Given the description of an element on the screen output the (x, y) to click on. 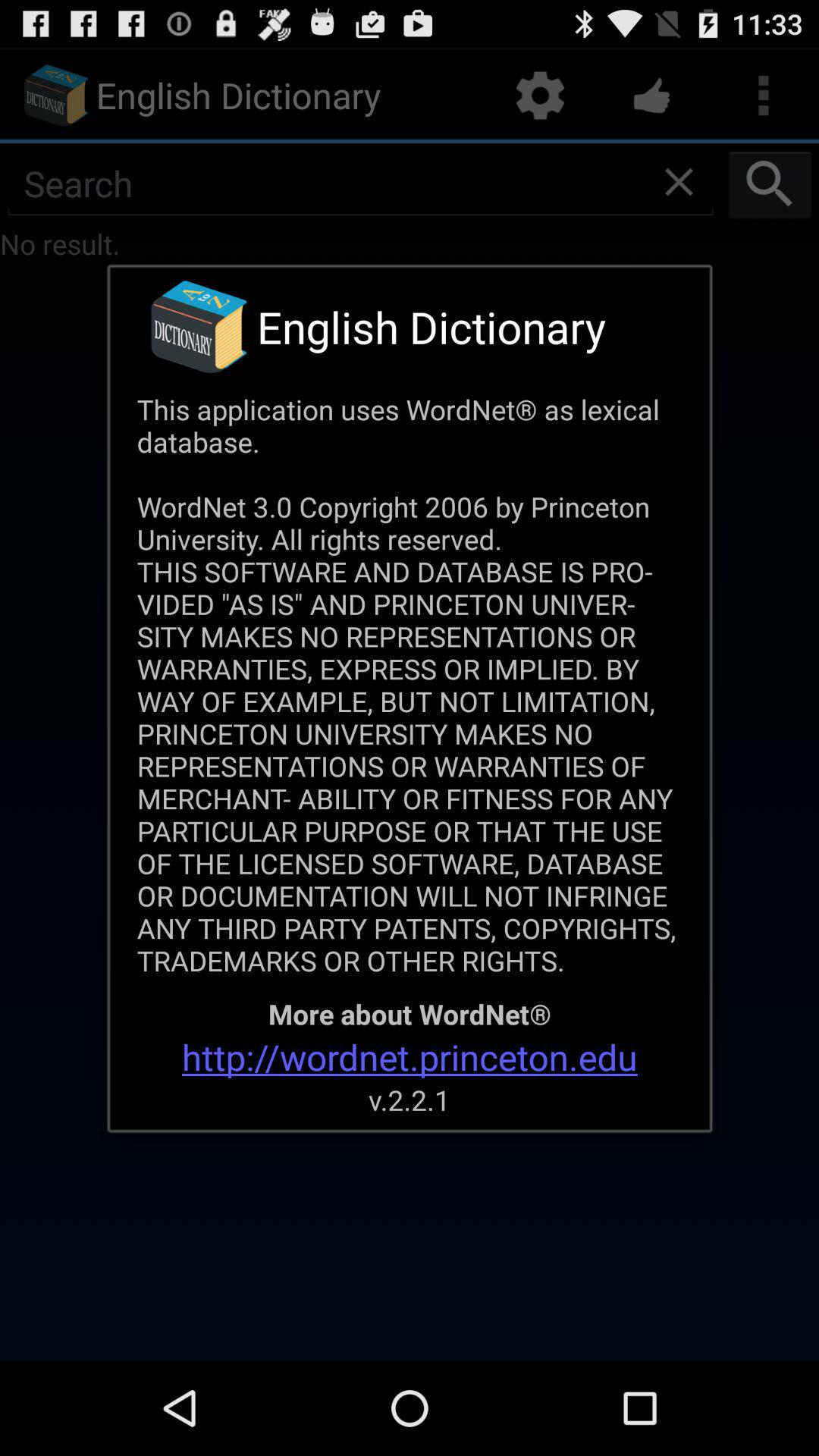
turn off the item above v 2 2 app (409, 1056)
